Given the description of an element on the screen output the (x, y) to click on. 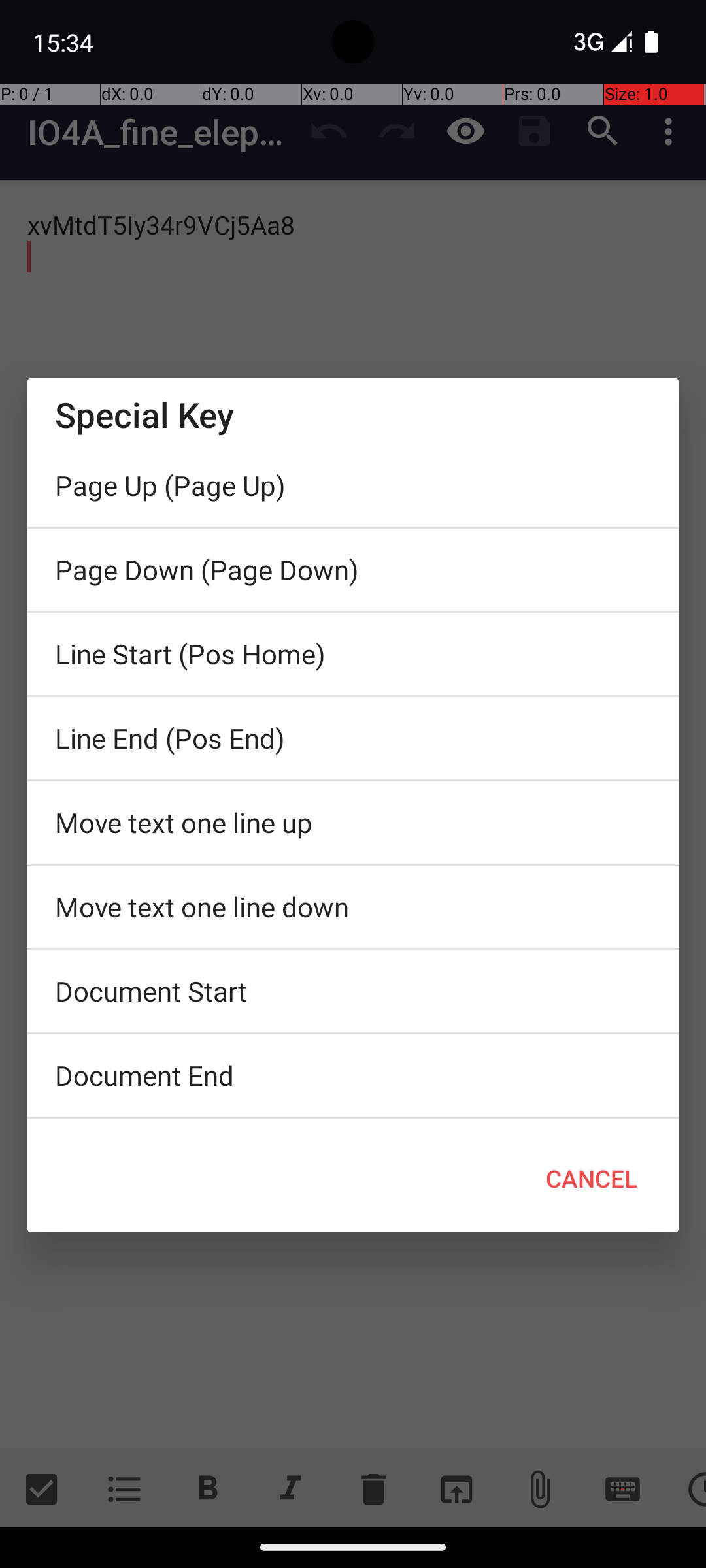
Page Up (Page Up) Element type: android.widget.TextView (352, 485)
Page Down (Page Down) Element type: android.widget.TextView (352, 569)
Line Start (Pos Home) Element type: android.widget.TextView (352, 653)
Line End (Pos End) Element type: android.widget.TextView (352, 738)
Move text one line up Element type: android.widget.TextView (352, 822)
Move text one line down Element type: android.widget.TextView (352, 906)
Document Start Element type: android.widget.TextView (352, 990)
Document End Element type: android.widget.TextView (352, 1075)
Select all (Ctrl+A) Element type: android.widget.TextView (352, 1121)
